Given the description of an element on the screen output the (x, y) to click on. 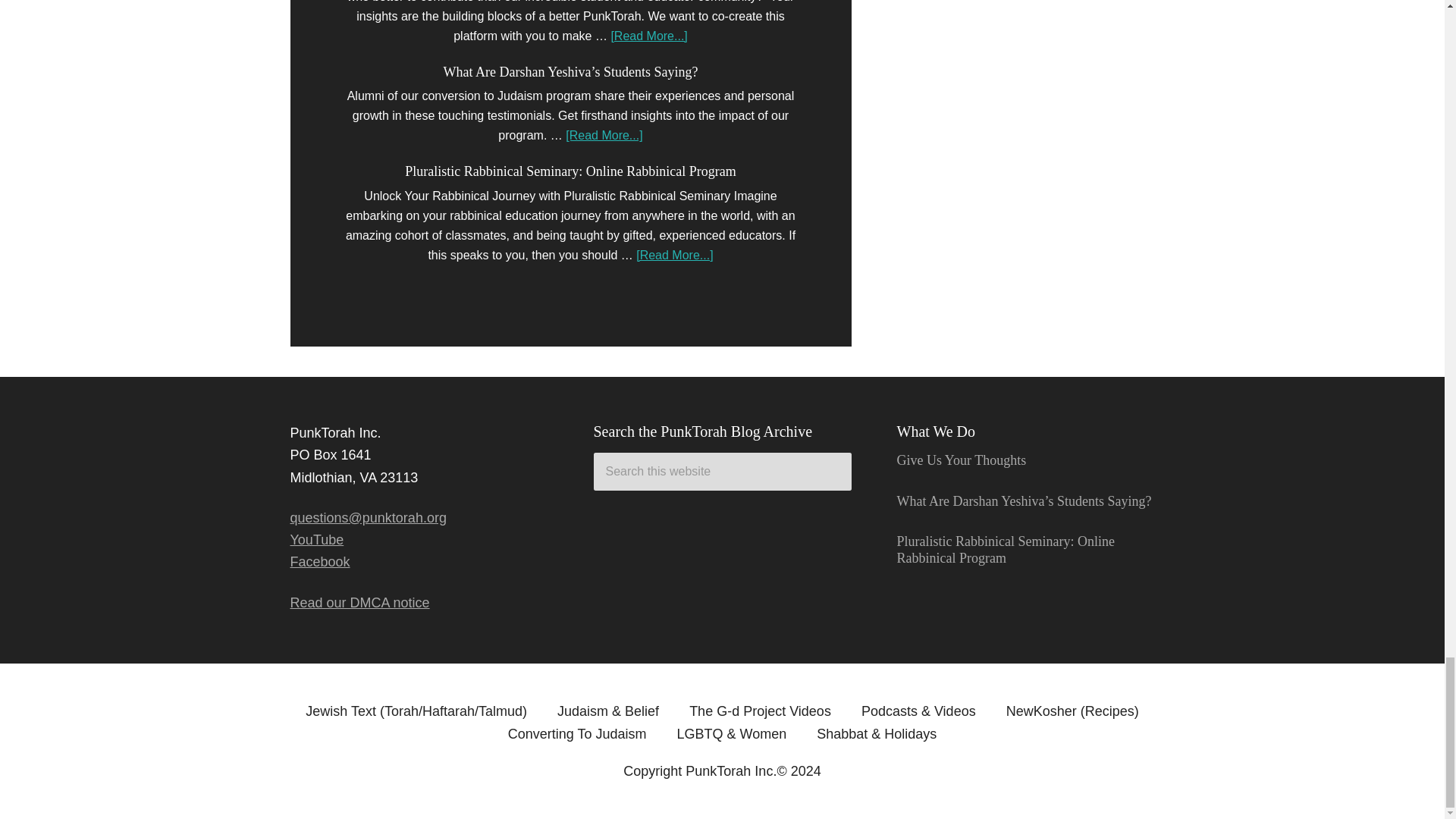
The G-d Project Videos (759, 711)
Facebook (319, 561)
Give Us Your Thoughts (961, 459)
Pluralistic Rabbinical Seminary: Online Rabbinical Program (1004, 549)
Read our DMCA notice (359, 602)
Pluralistic Rabbinical Seminary: Online Rabbinical Program (569, 171)
YouTube (316, 539)
